Given the description of an element on the screen output the (x, y) to click on. 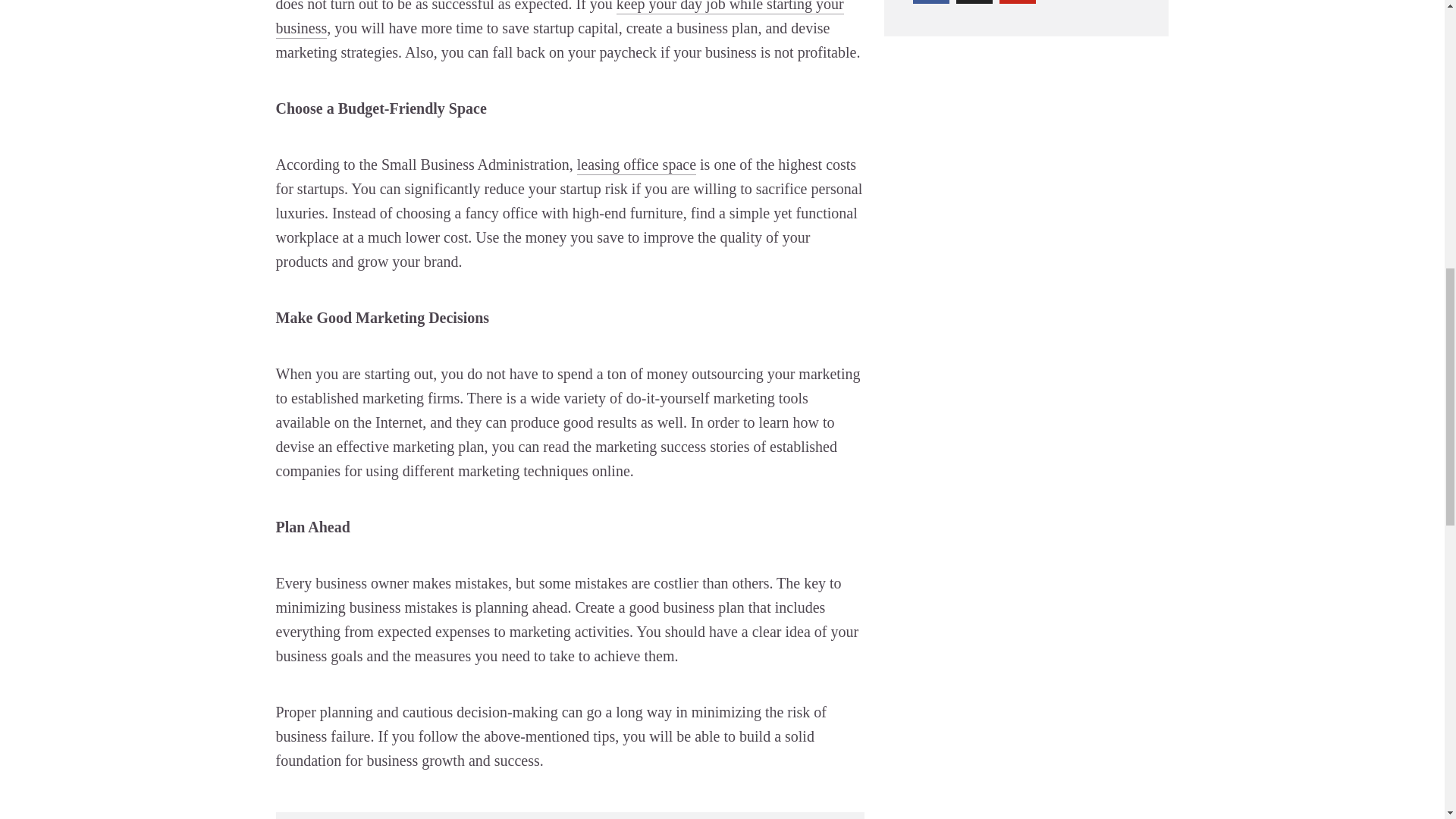
Pinterest (1016, 2)
leasing office space (635, 165)
Facebook (930, 2)
keep your day job while starting your business (560, 18)
